Given the description of an element on the screen output the (x, y) to click on. 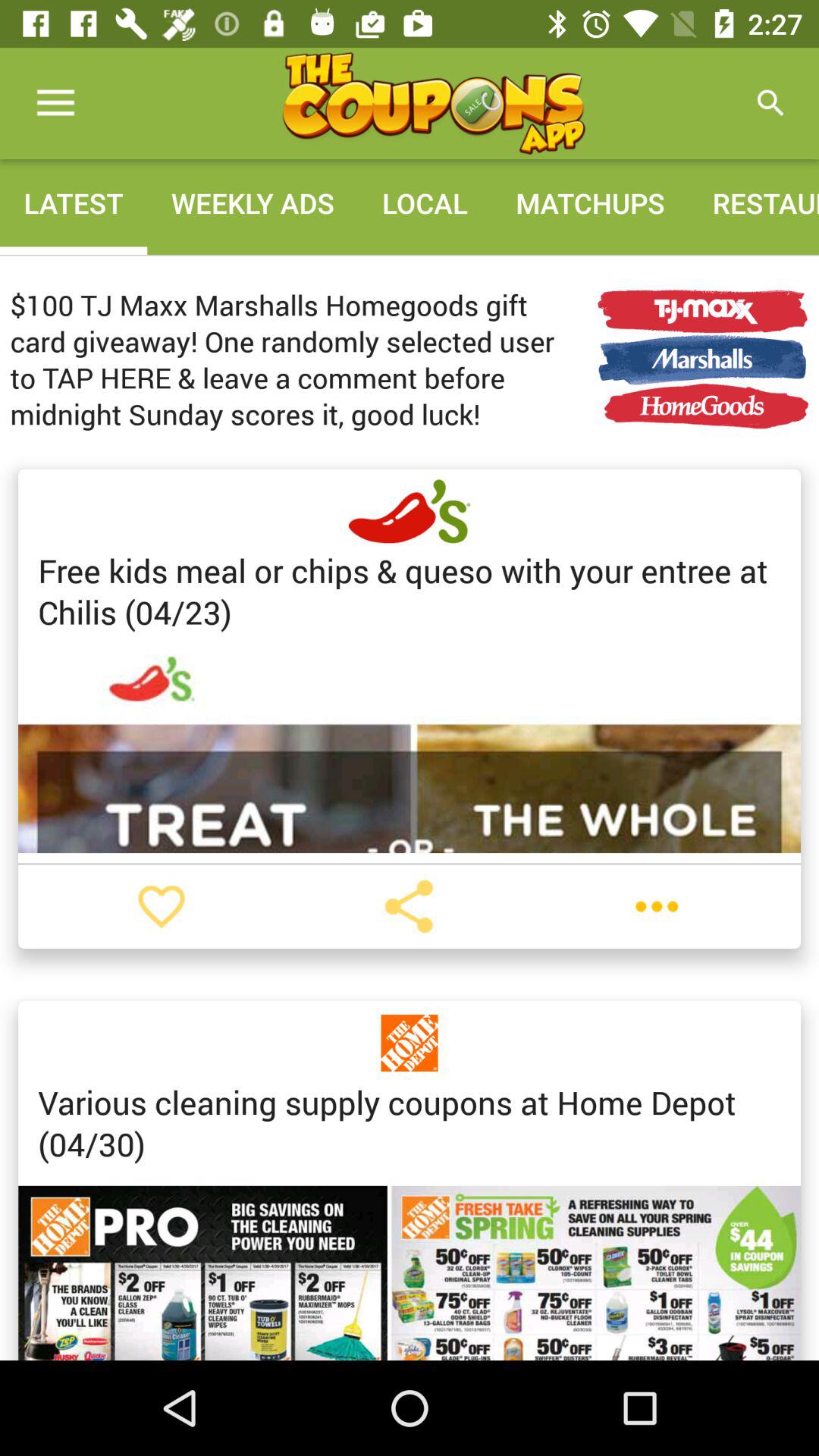
like post button (161, 906)
